Given the description of an element on the screen output the (x, y) to click on. 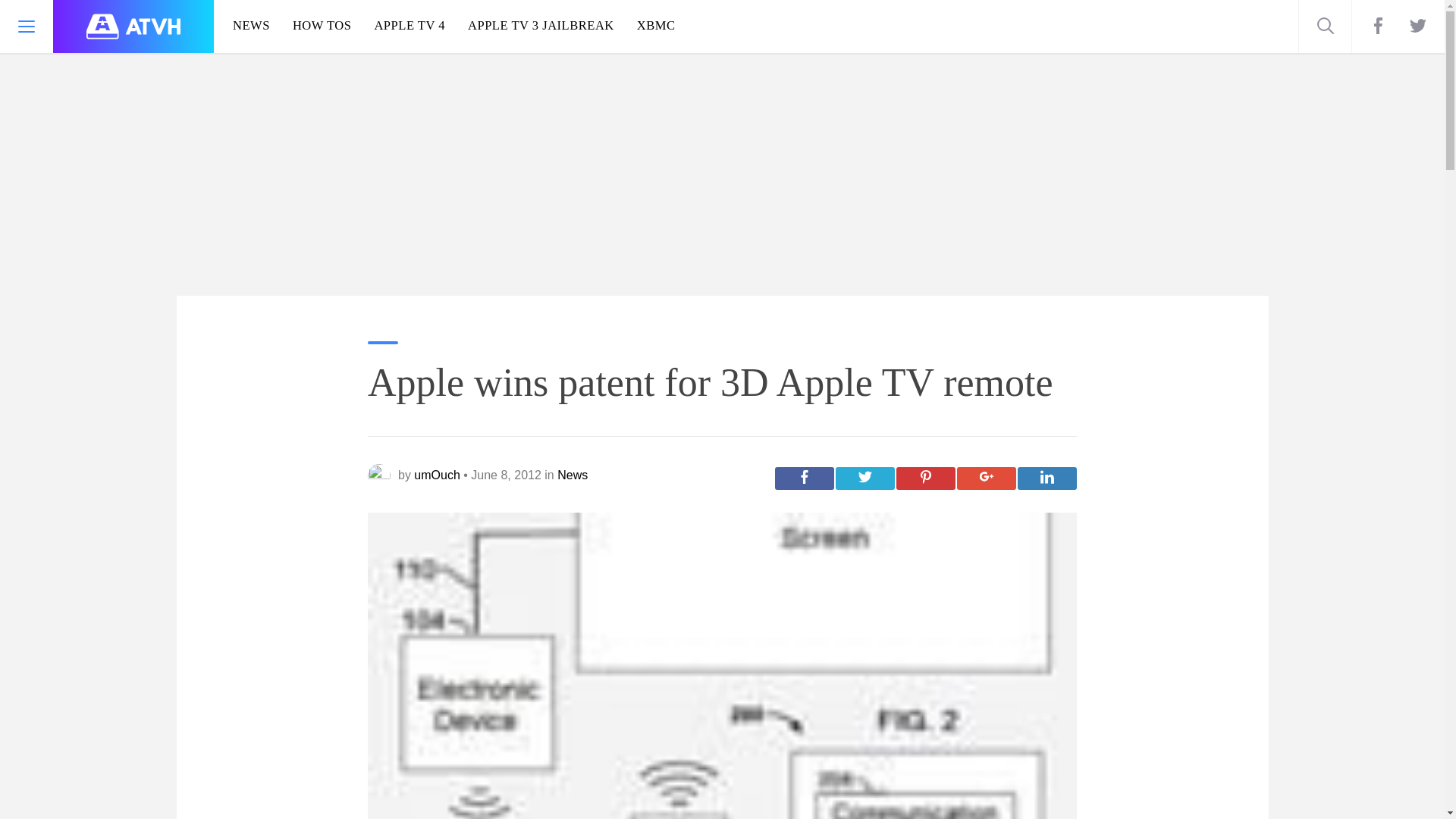
NEWS (247, 26)
HOW TOS (321, 26)
XBMC (660, 26)
Apple TV Hacks (133, 26)
News (572, 474)
Posts by umOuch (436, 474)
APPLE TV 4 (409, 26)
APPLE TV 3 JAILBREAK (541, 26)
News (572, 474)
umOuch (436, 474)
